Given the description of an element on the screen output the (x, y) to click on. 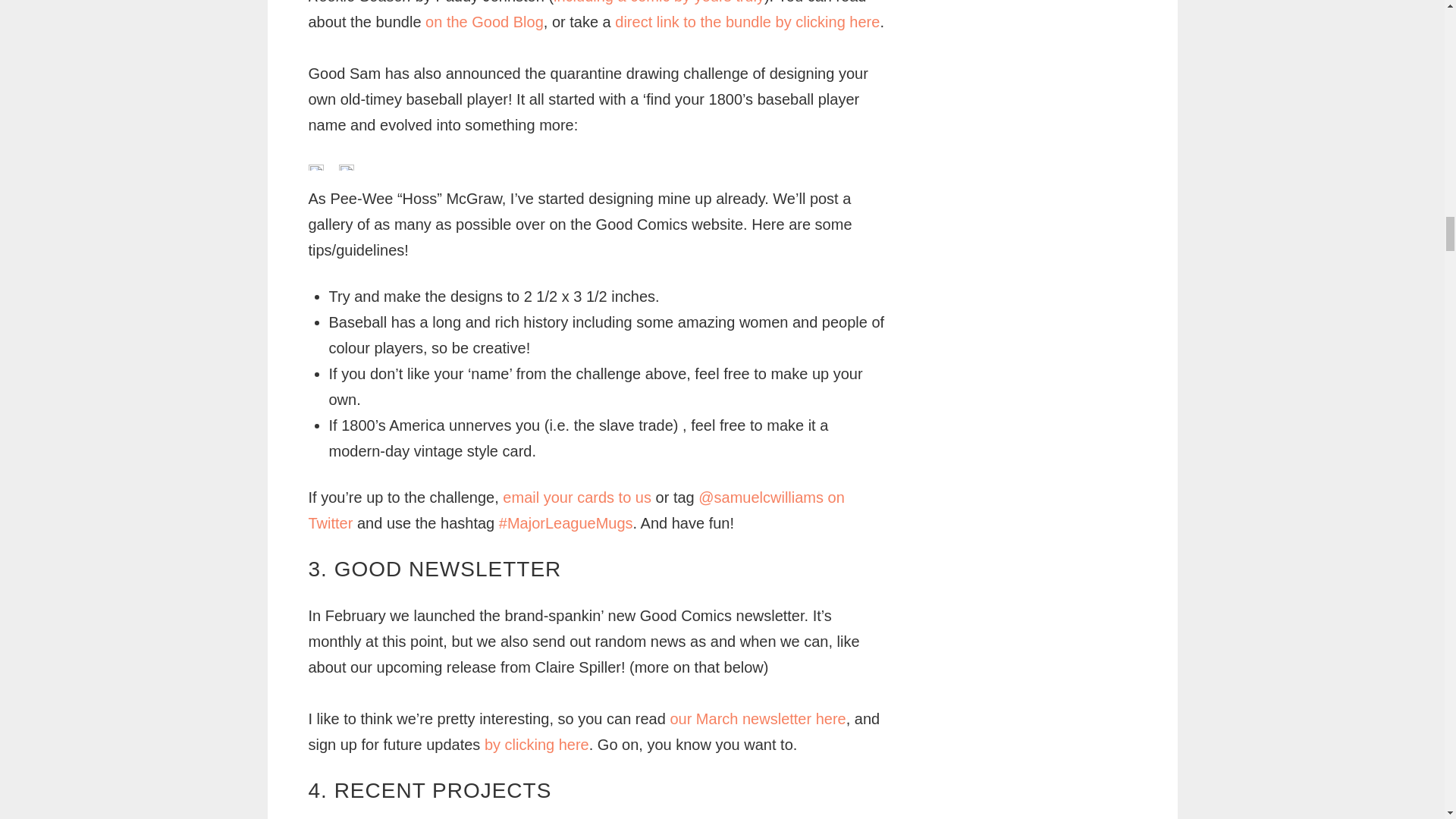
including a comic by yours truly (658, 2)
direct link to the bundle by clicking here (746, 21)
by clicking here (536, 744)
our March newsletter here (757, 718)
email your cards to us (576, 497)
on the Good Blog (484, 21)
